Given the description of an element on the screen output the (x, y) to click on. 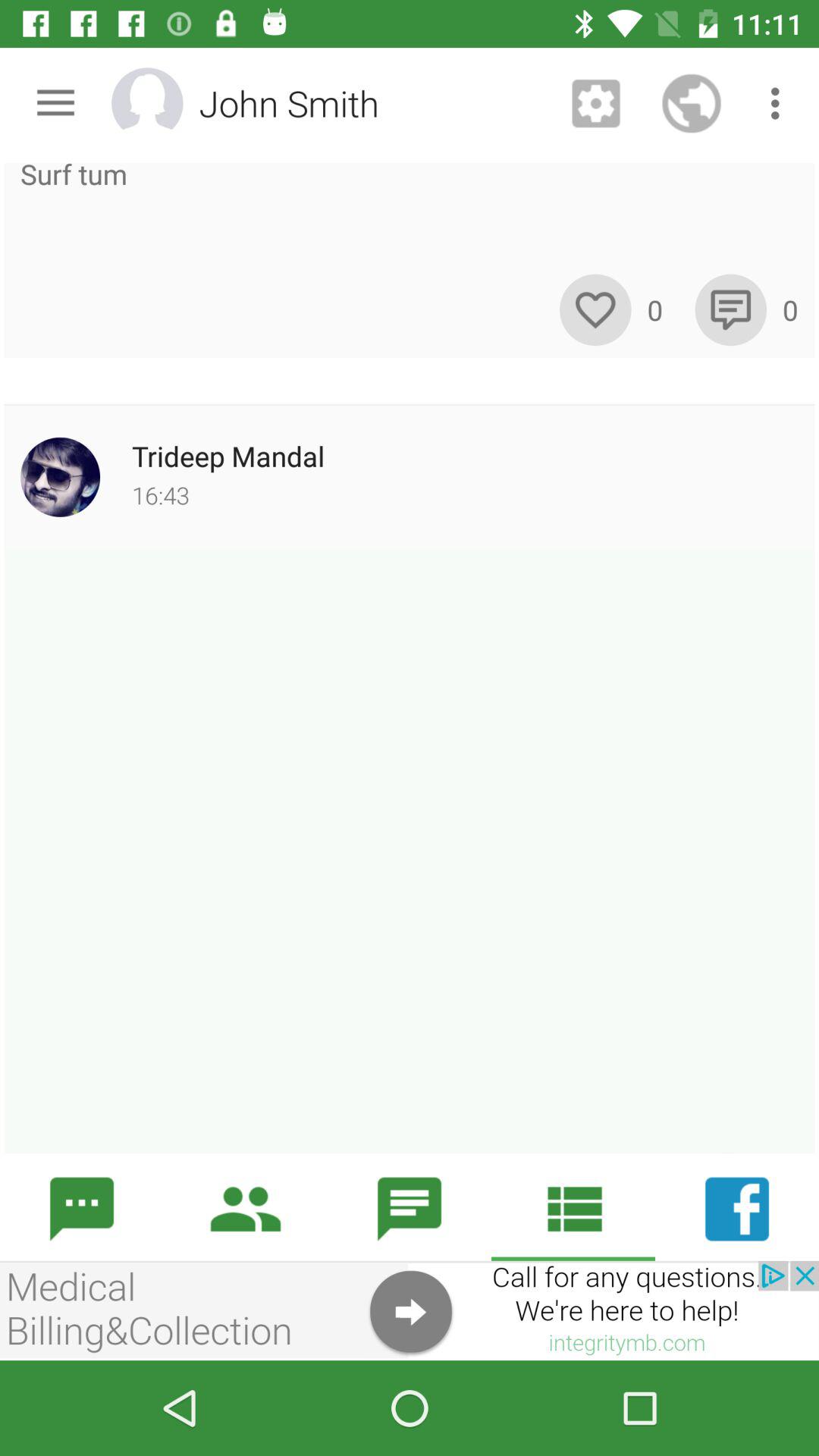
comment switch option (730, 309)
